Given the description of an element on the screen output the (x, y) to click on. 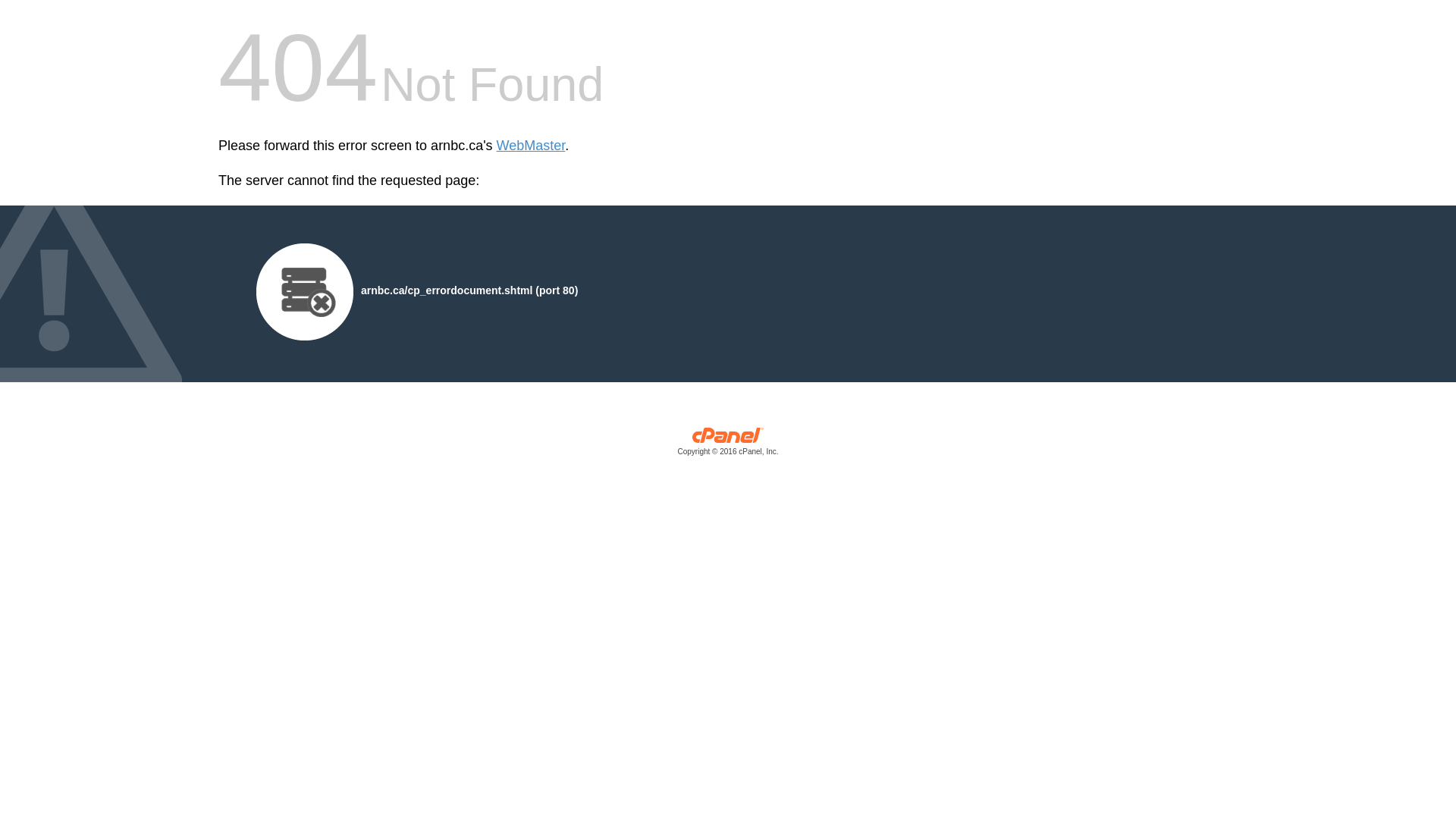
WebMaster Element type: text (530, 145)
